Given the description of an element on the screen output the (x, y) to click on. 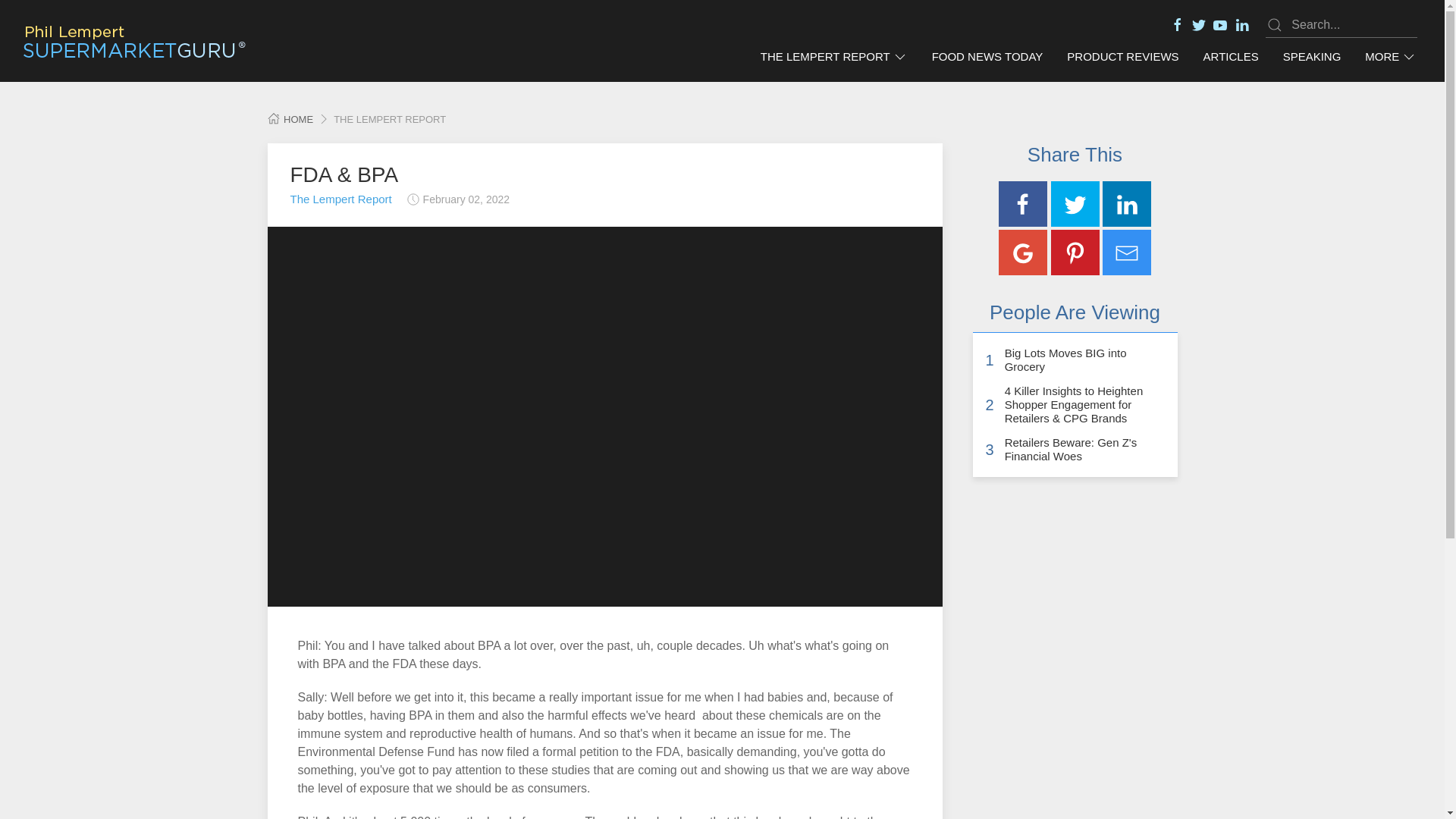
FOOD NEWS TODAY (987, 56)
ARTICLES (1231, 56)
SPEAKING (1312, 56)
MORE (1390, 56)
THE LEMPERT REPORT (834, 56)
PRODUCT REVIEWS (1122, 56)
HOME (289, 119)
